Given the description of an element on the screen output the (x, y) to click on. 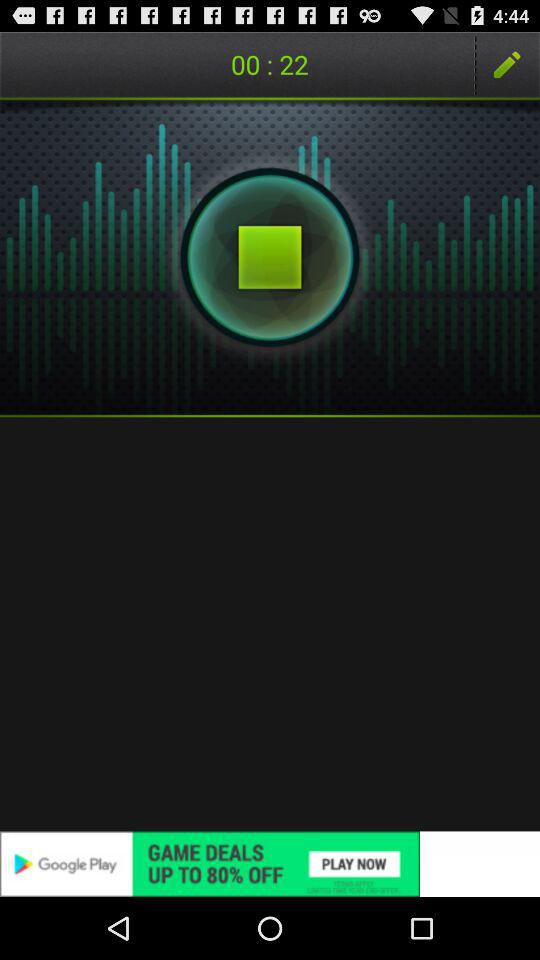
turn on icon at the top right corner (507, 64)
